Given the description of an element on the screen output the (x, y) to click on. 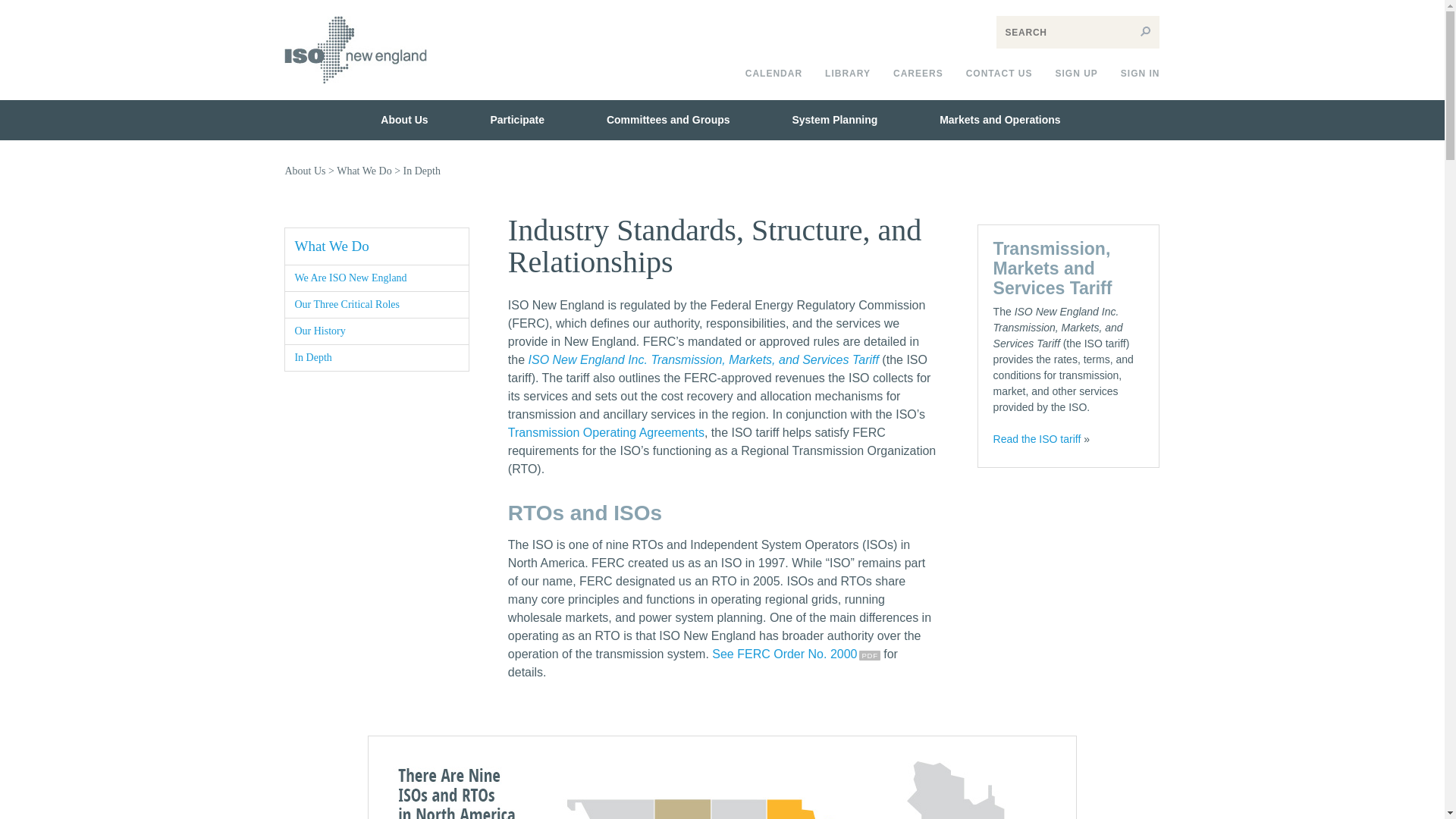
Search (1144, 32)
CAREERS (918, 73)
SIGN IN (1140, 73)
Go to the ISO New England home page. (354, 94)
About Us (403, 119)
LIBRARY (847, 73)
Click to sign up for Markets and Operations. (1075, 73)
Search (1144, 32)
CONTACT US (999, 73)
SIGN UP (1075, 73)
CALENDAR (773, 73)
